Given the description of an element on the screen output the (x, y) to click on. 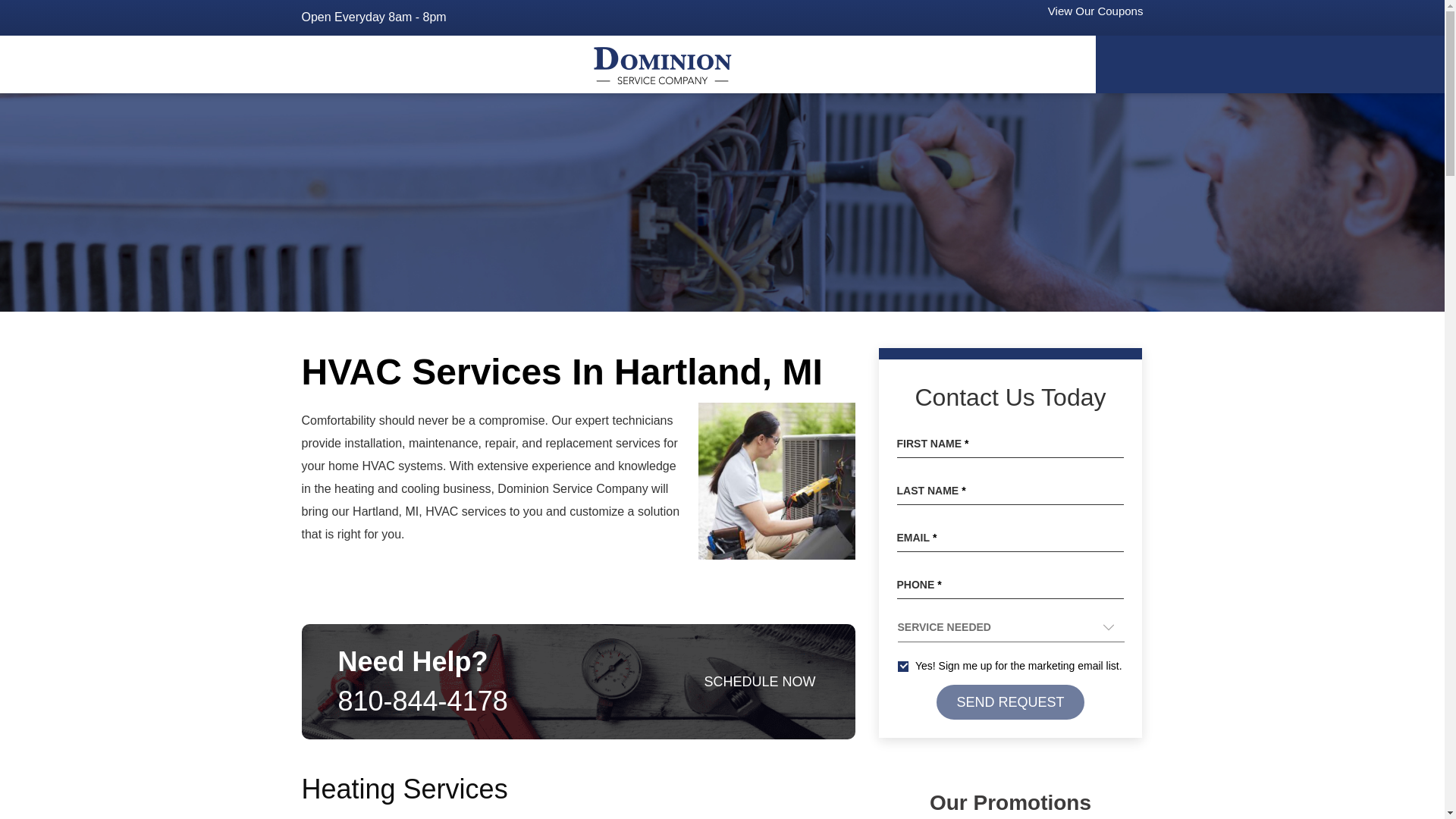
Yes! Sign me up for the marketing email list. (903, 665)
View Our Coupons (1092, 10)
